Given the description of an element on the screen output the (x, y) to click on. 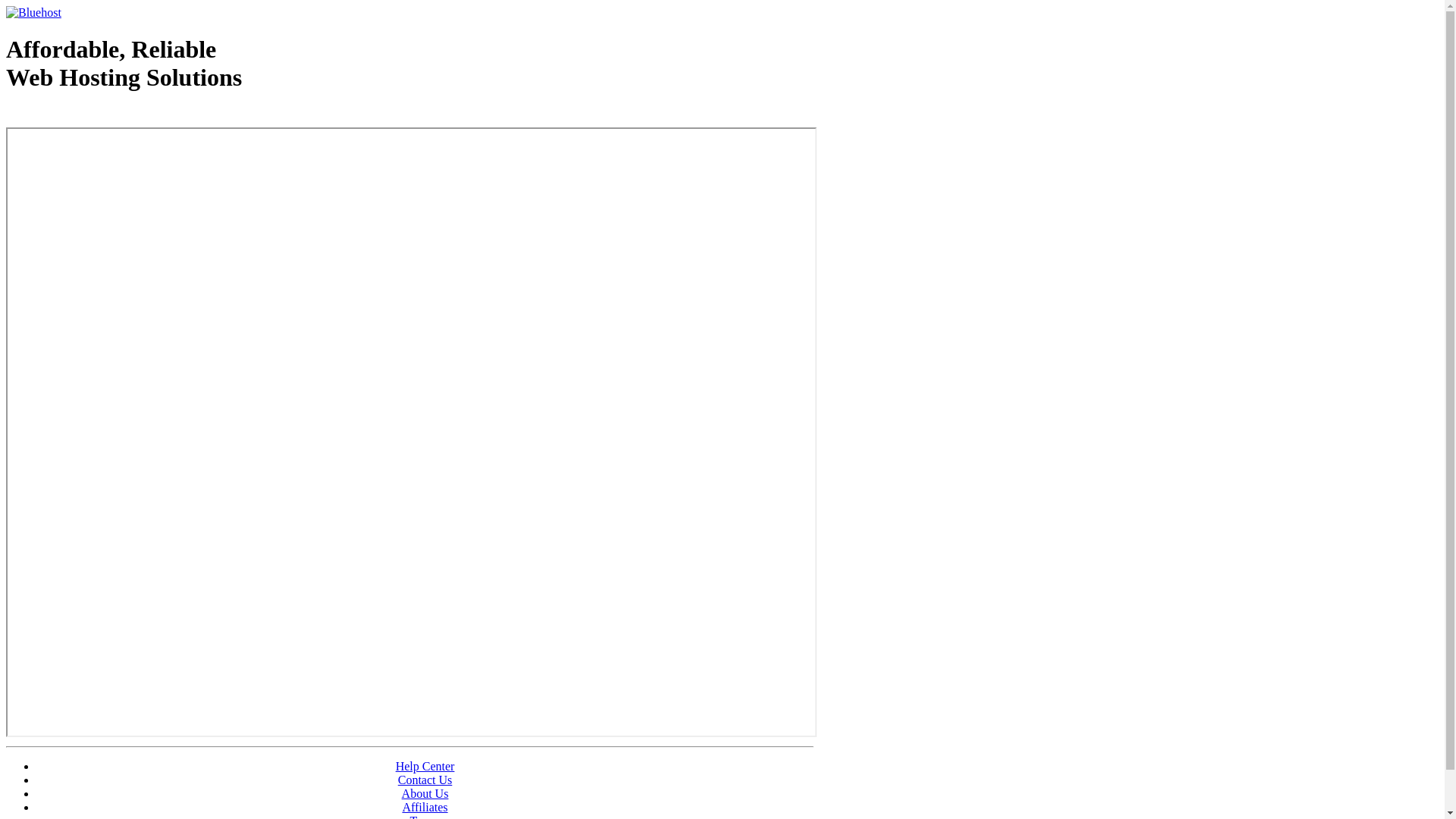
Affiliates Element type: text (424, 806)
About Us Element type: text (424, 793)
Contact Us Element type: text (425, 779)
Help Center Element type: text (425, 765)
Web Hosting - courtesy of www.bluehost.com Element type: text (94, 115)
